Given the description of an element on the screen output the (x, y) to click on. 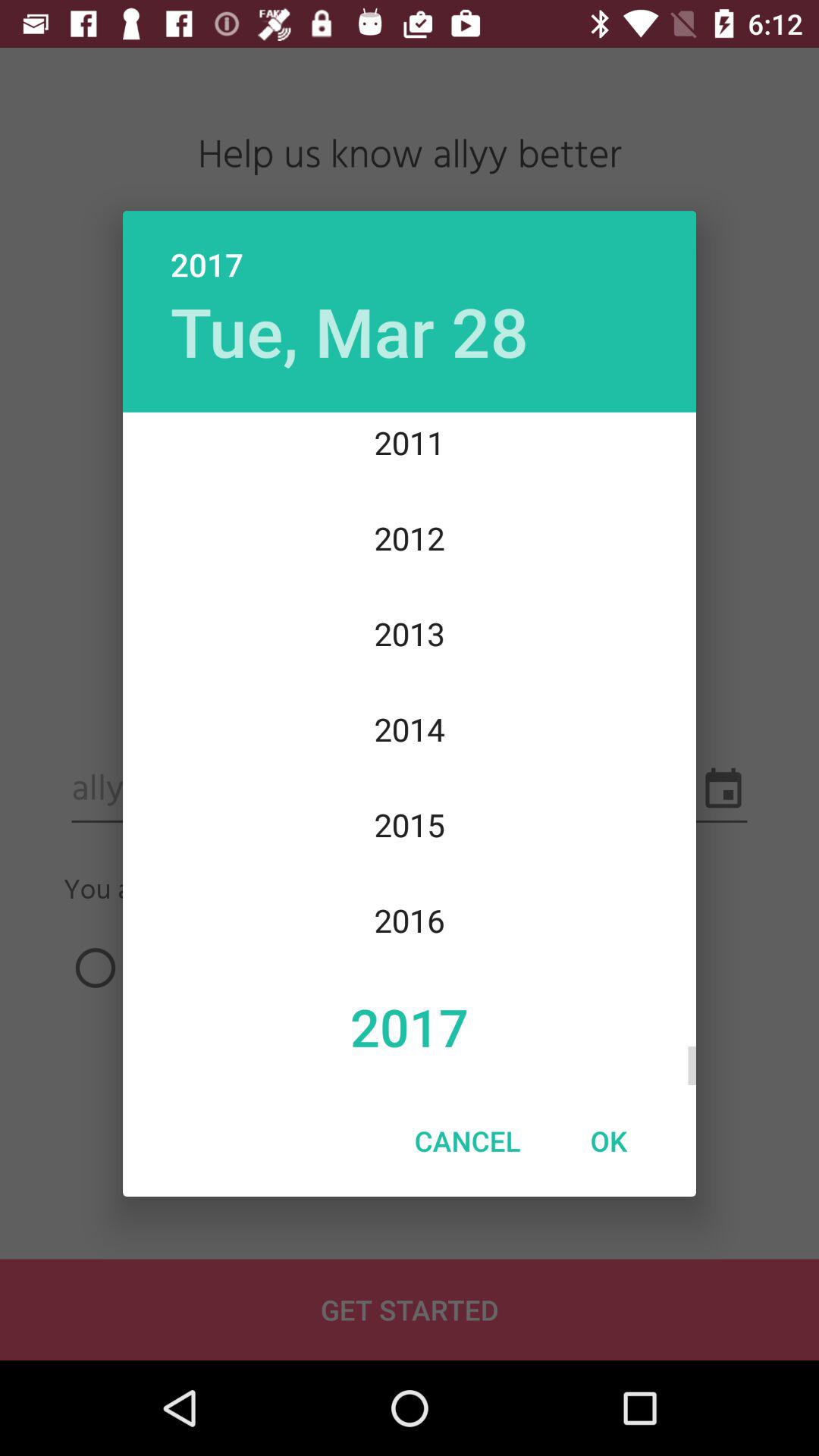
turn off ok (608, 1140)
